Given the description of an element on the screen output the (x, y) to click on. 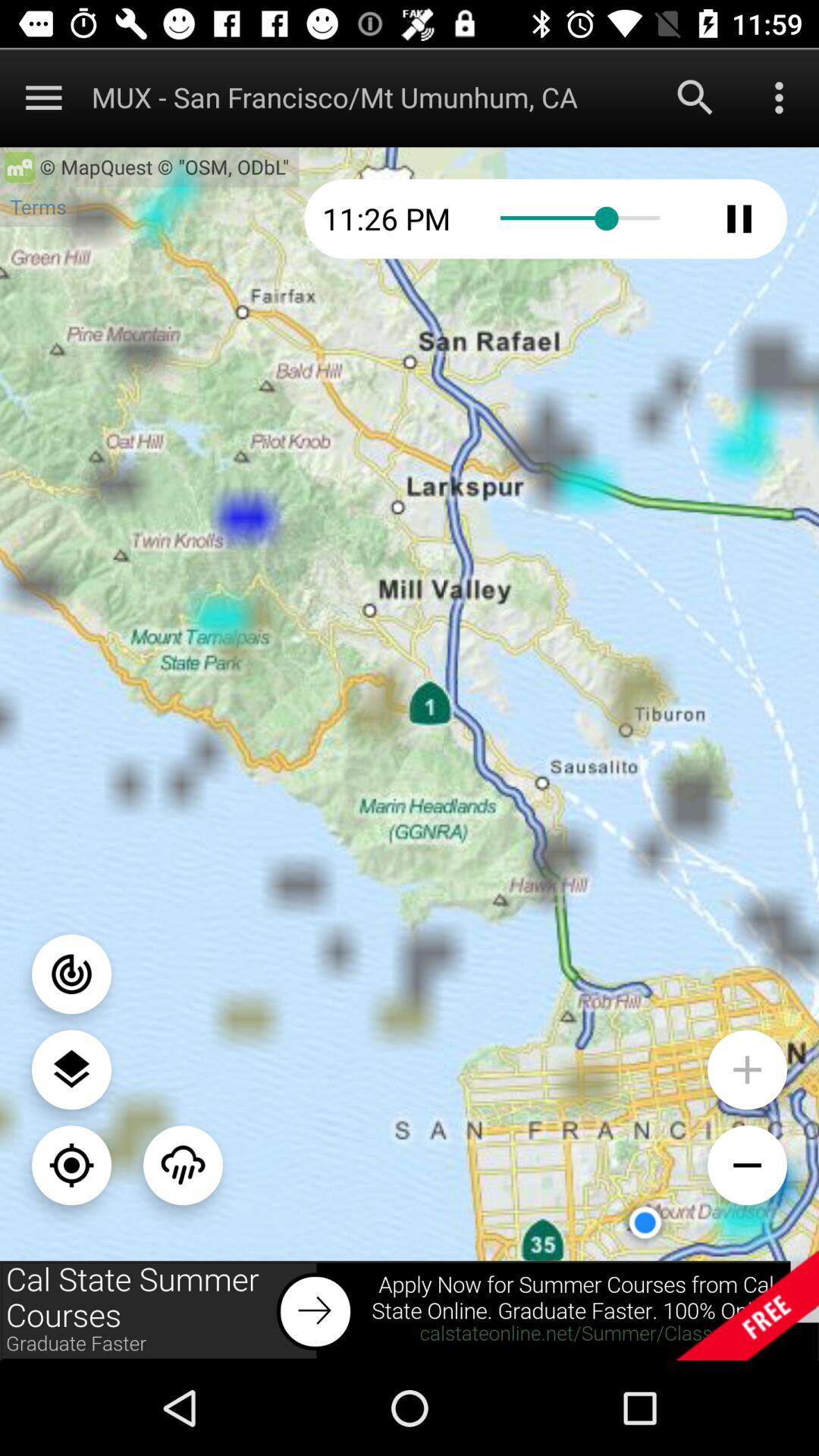
zoom in (747, 1165)
